Given the description of an element on the screen output the (x, y) to click on. 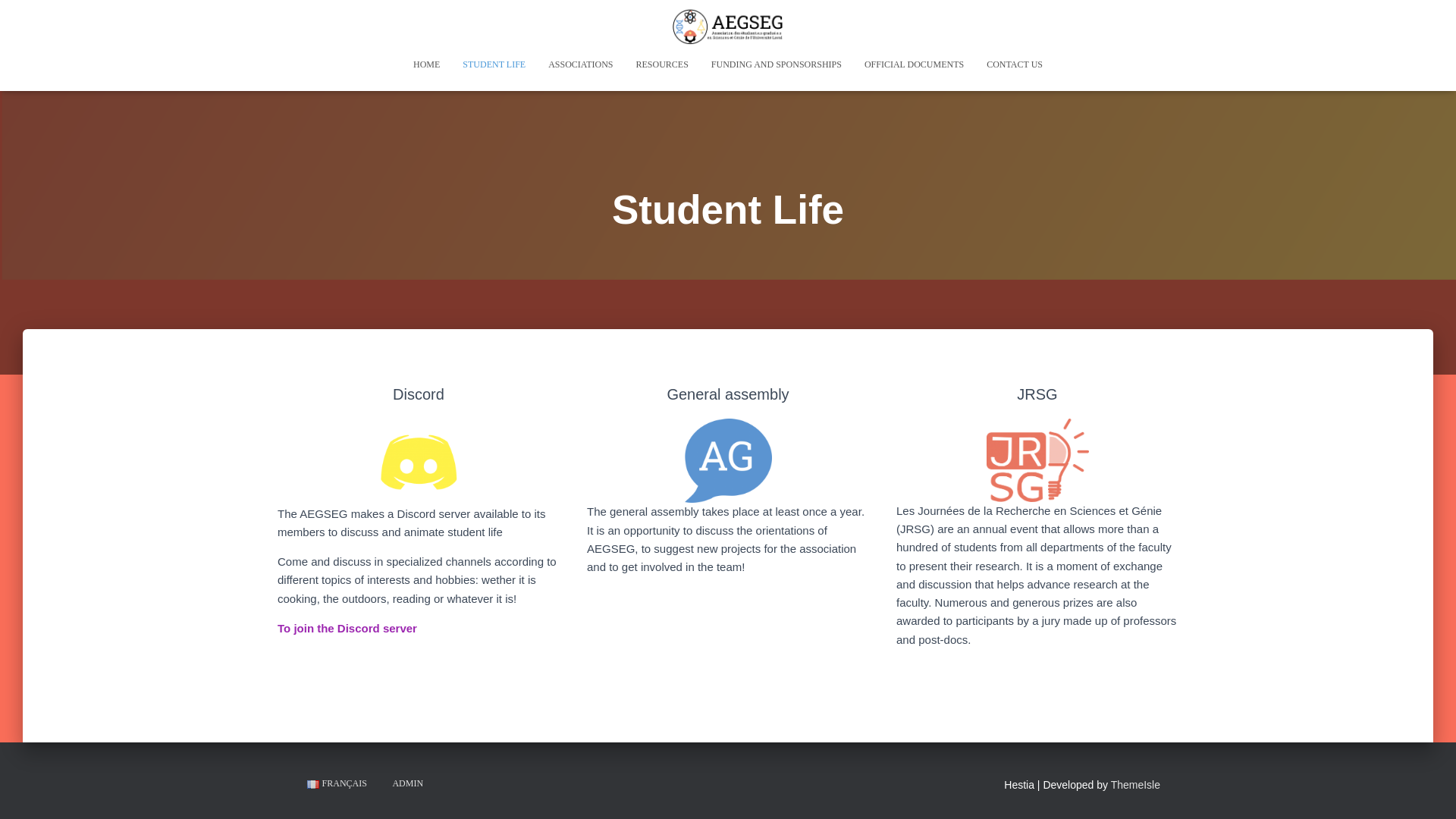
ASSOCIATIONS (580, 64)
Student Life (494, 64)
RESOURCES (662, 64)
Contact us (1014, 64)
FUNDING AND SPONSORSHIPS (776, 64)
ADMIN (406, 783)
Funding and Sponsorships (776, 64)
Home (426, 64)
Resources (662, 64)
HOME (426, 64)
